Given the description of an element on the screen output the (x, y) to click on. 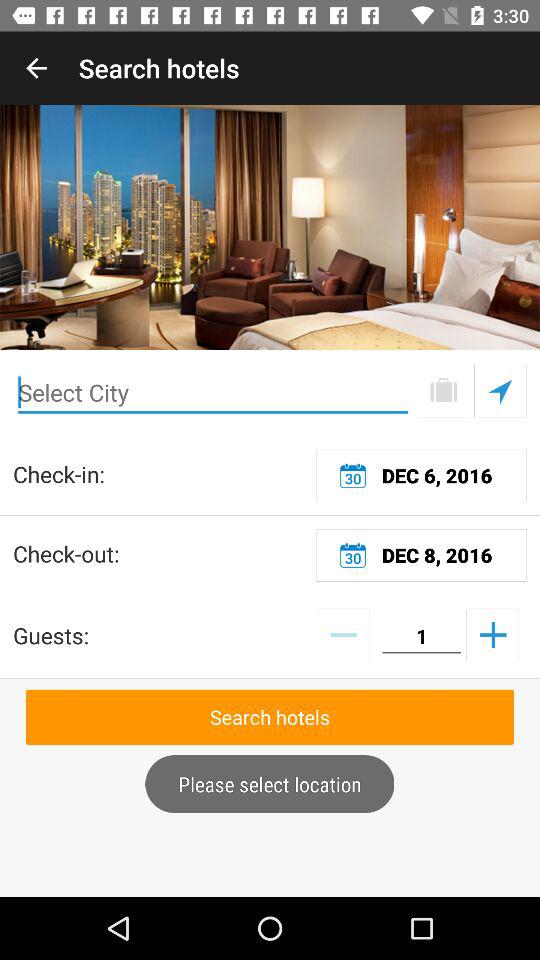
lower guest number (342, 634)
